Given the description of an element on the screen output the (x, y) to click on. 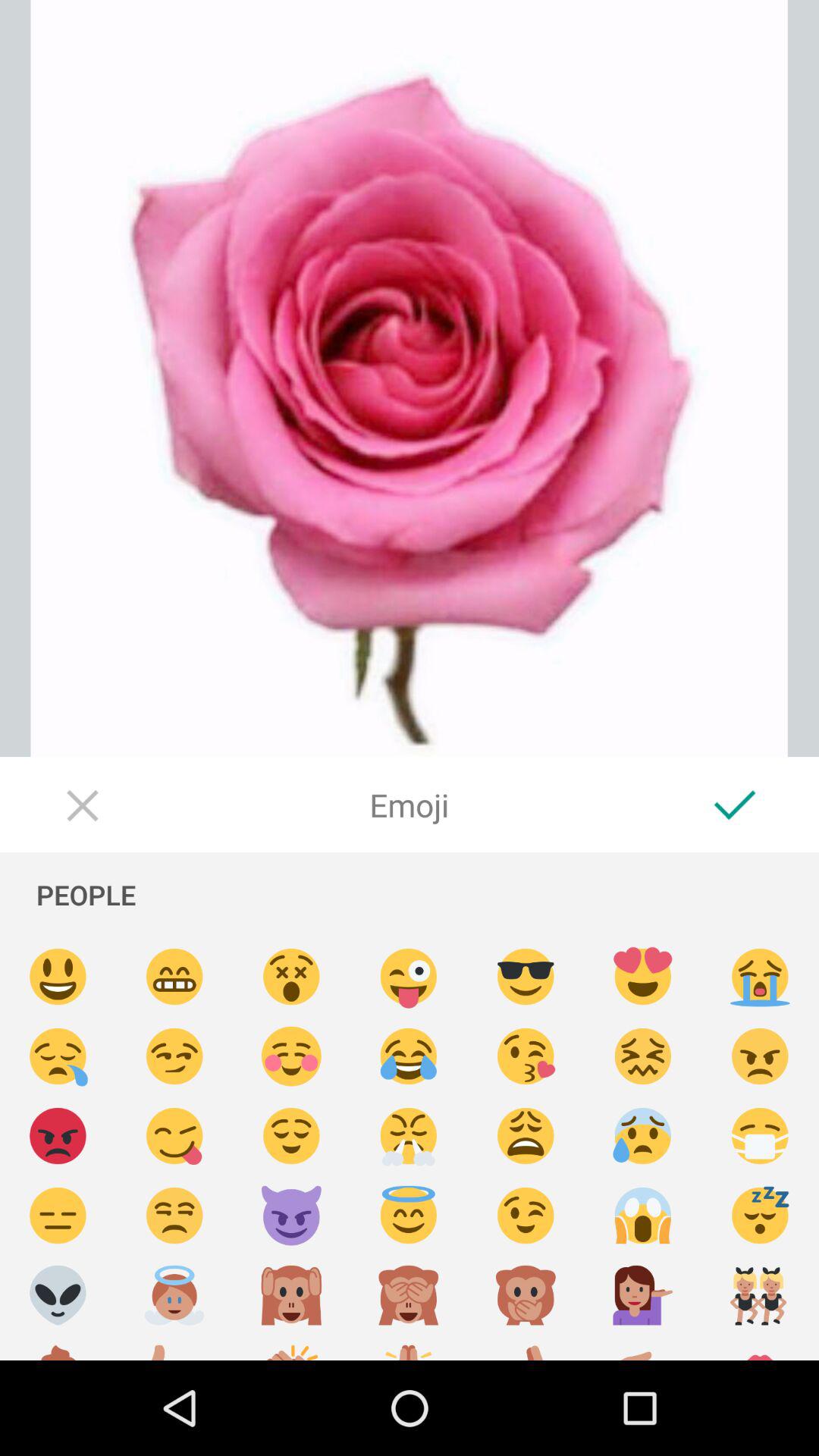
emoji astonished face (291, 976)
